Given the description of an element on the screen output the (x, y) to click on. 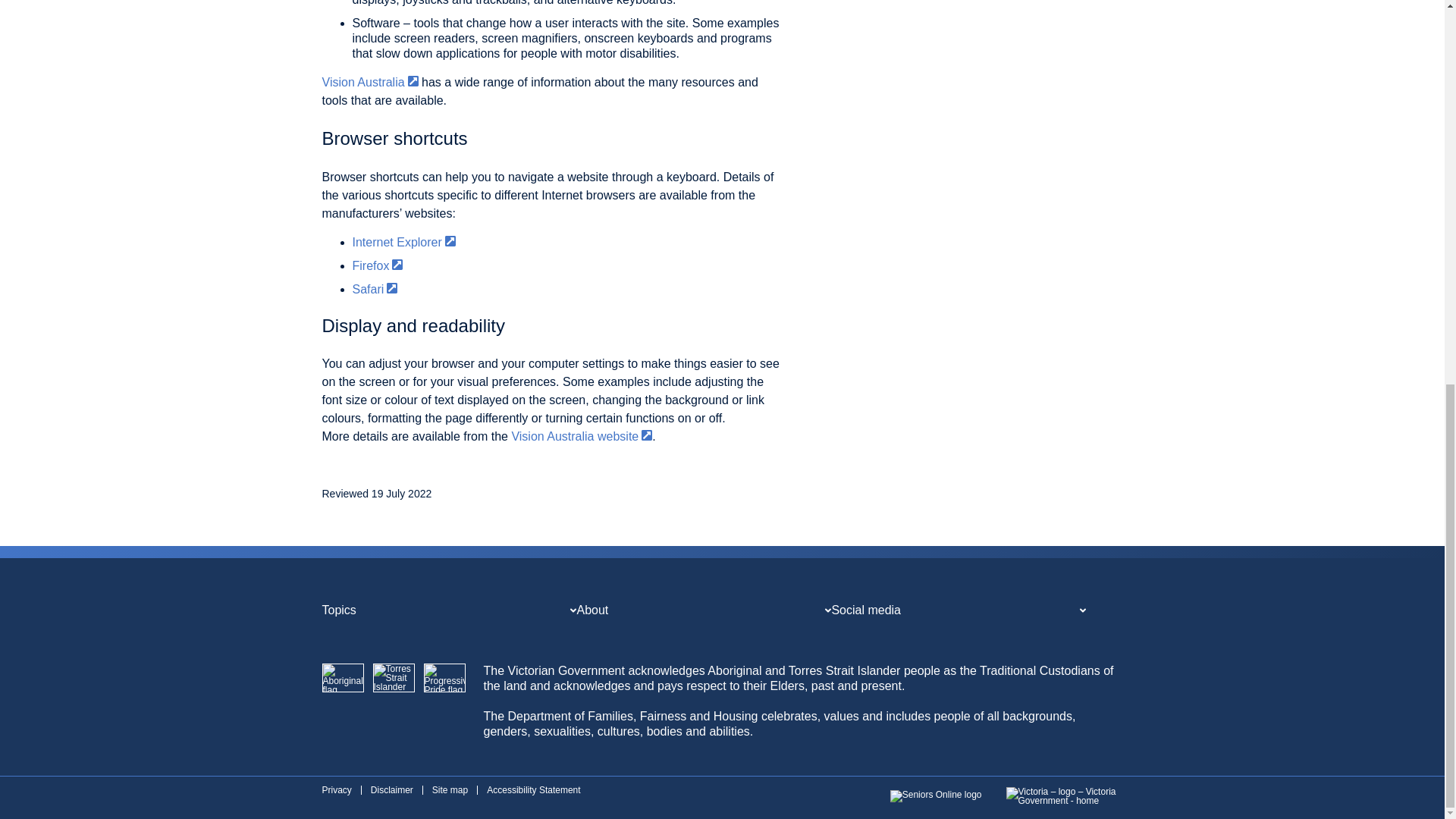
FirefoxExternal Link (377, 265)
Privacy (335, 789)
Vision Australia websiteExternal Link (581, 436)
External Link (647, 434)
Topics (338, 609)
Vision AustraliaExternal Link (369, 82)
Disclaimer (392, 789)
Site map (449, 789)
External Link (450, 240)
External Link (397, 264)
